Given the description of an element on the screen output the (x, y) to click on. 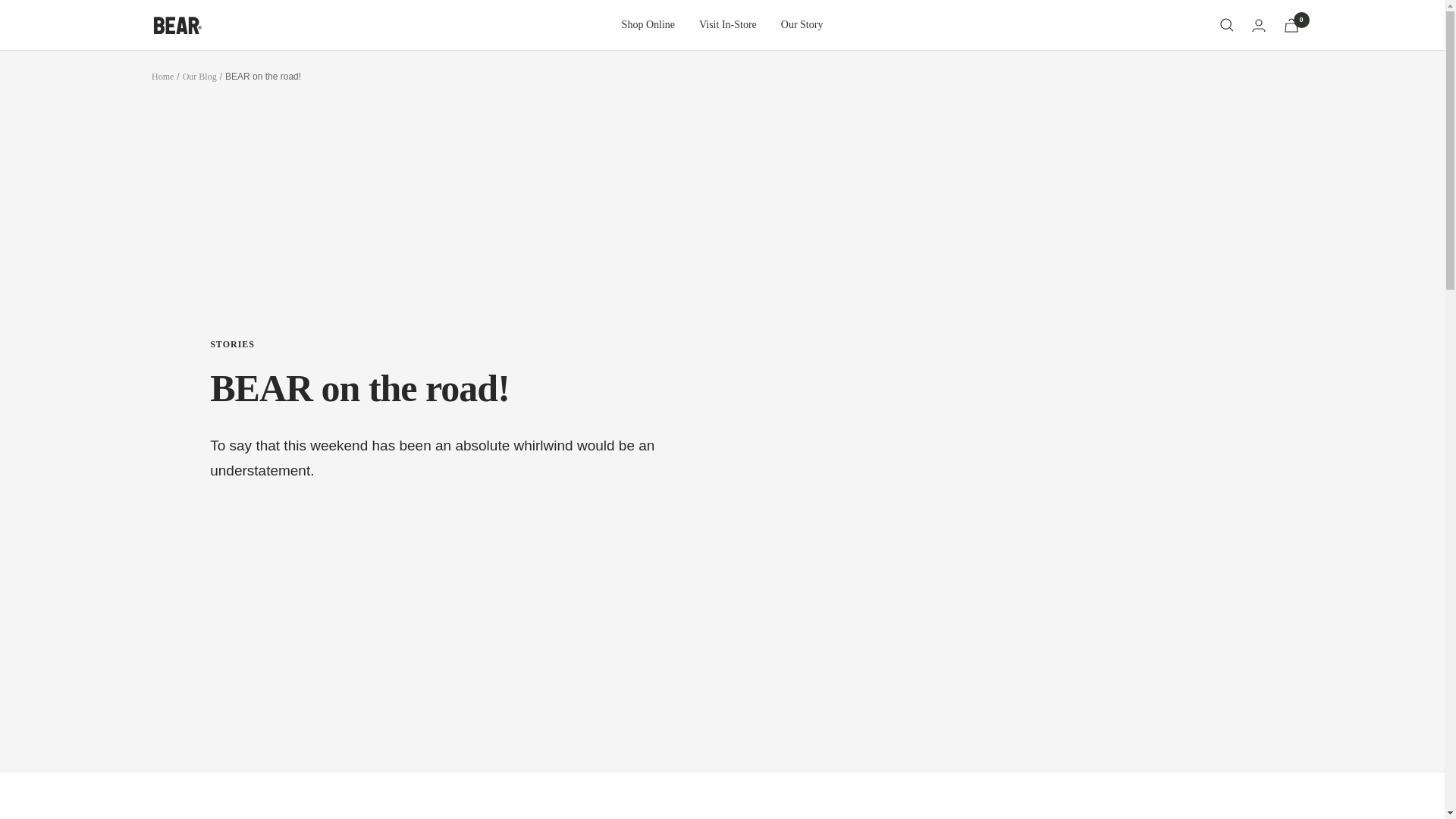
STORIES (438, 344)
Our Blog (199, 76)
BEAR (175, 25)
Visit In-Store (727, 24)
Home (162, 76)
Shop Online (648, 24)
0 (1290, 25)
Our Story (802, 24)
